Given the description of an element on the screen output the (x, y) to click on. 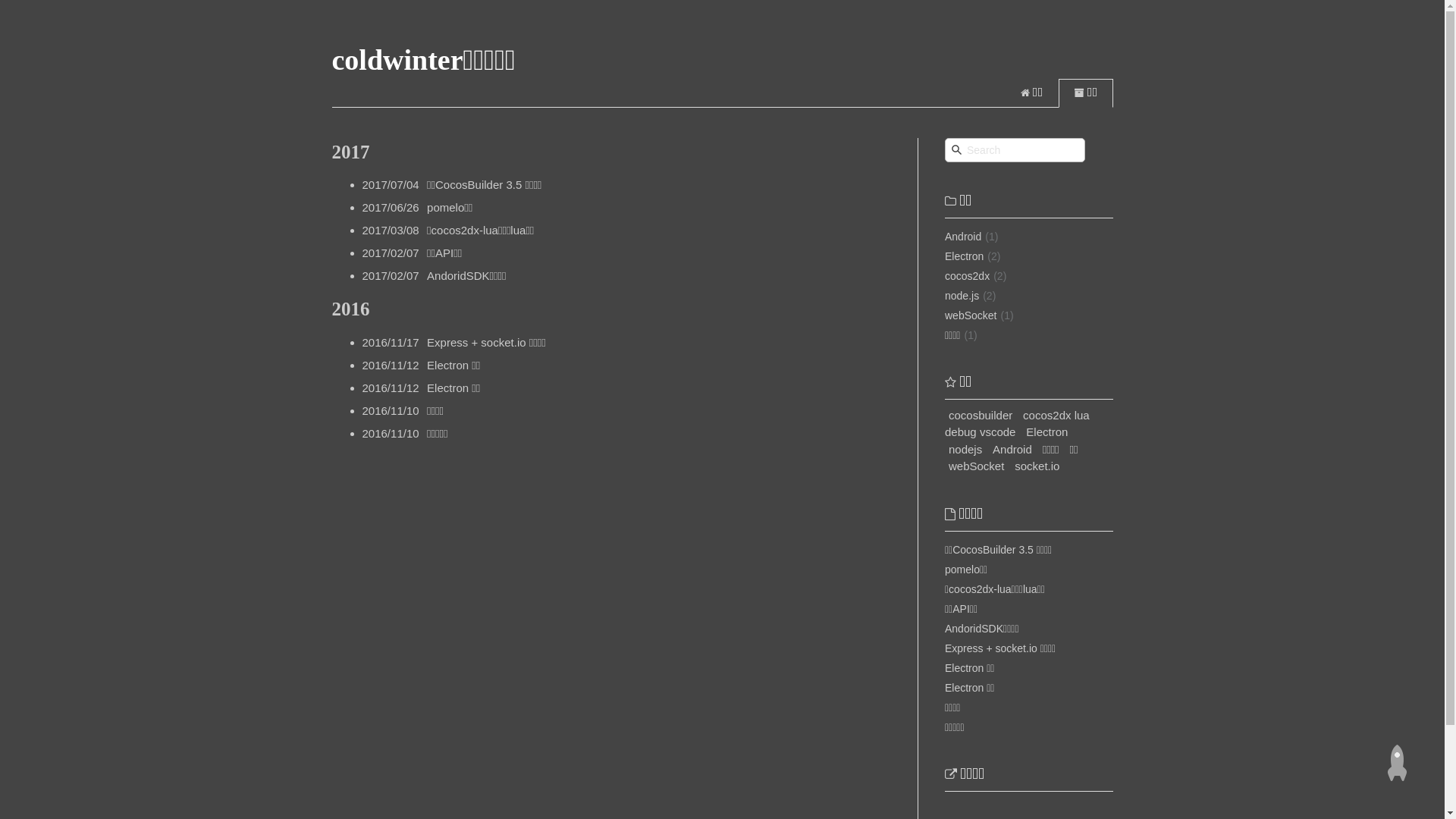
Electron Element type: text (963, 256)
Electron Element type: text (1046, 431)
node.js Element type: text (961, 295)
cocos2dx lua debug vscode Element type: text (1016, 423)
webSocket Element type: text (970, 315)
Android Element type: text (962, 236)
socket.io Element type: text (1036, 465)
webSocket Element type: text (975, 465)
cocos2dx Element type: text (966, 275)
nodejs Element type: text (964, 449)
cocosbuilder Element type: text (980, 414)
Android Element type: text (1011, 449)
